Given the description of an element on the screen output the (x, y) to click on. 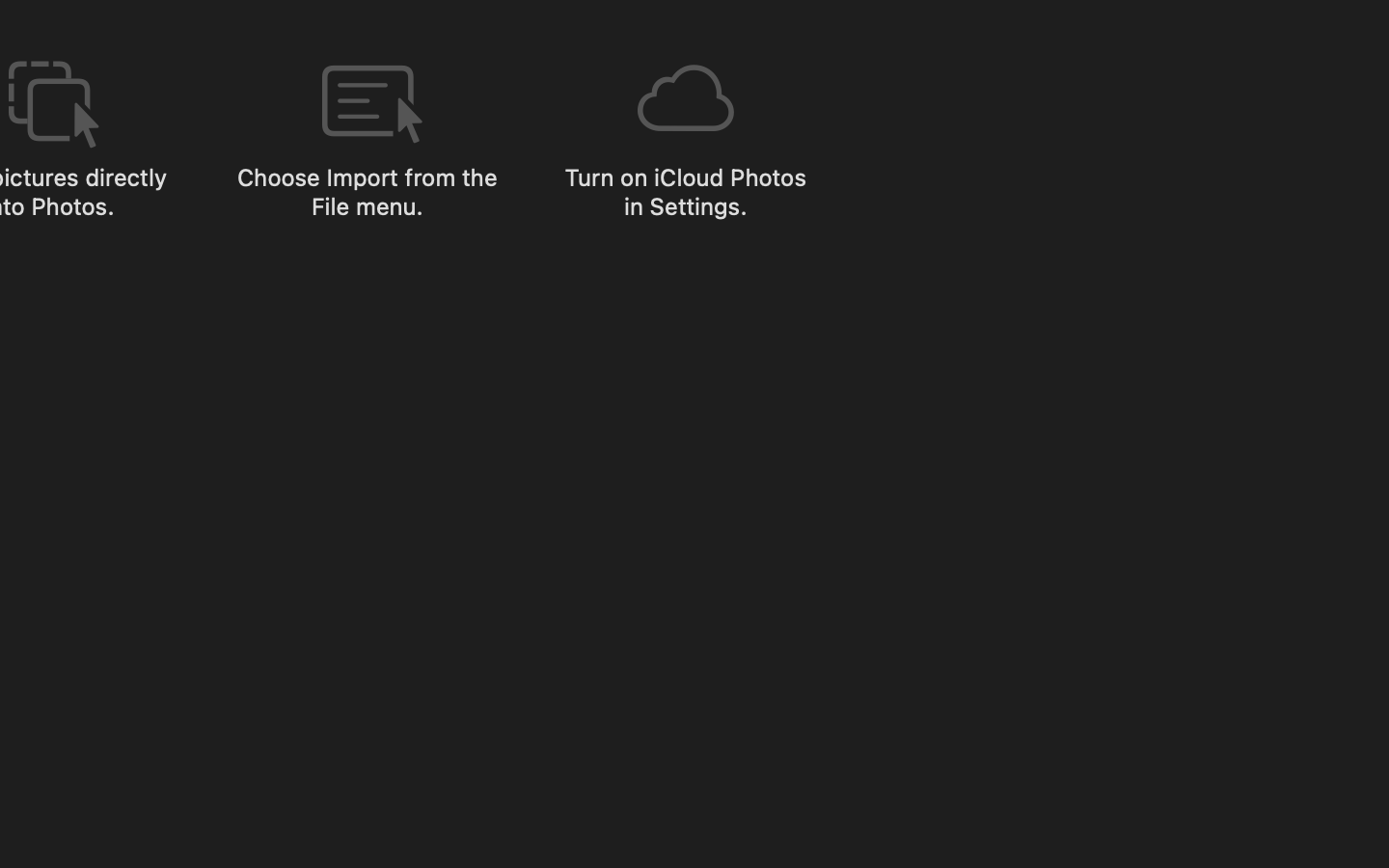
Choose Import from the File menu. Element type: AXStaticText (366, 190)
Turn on iCloud Photos in Settings. Element type: AXStaticText (684, 190)
